Given the description of an element on the screen output the (x, y) to click on. 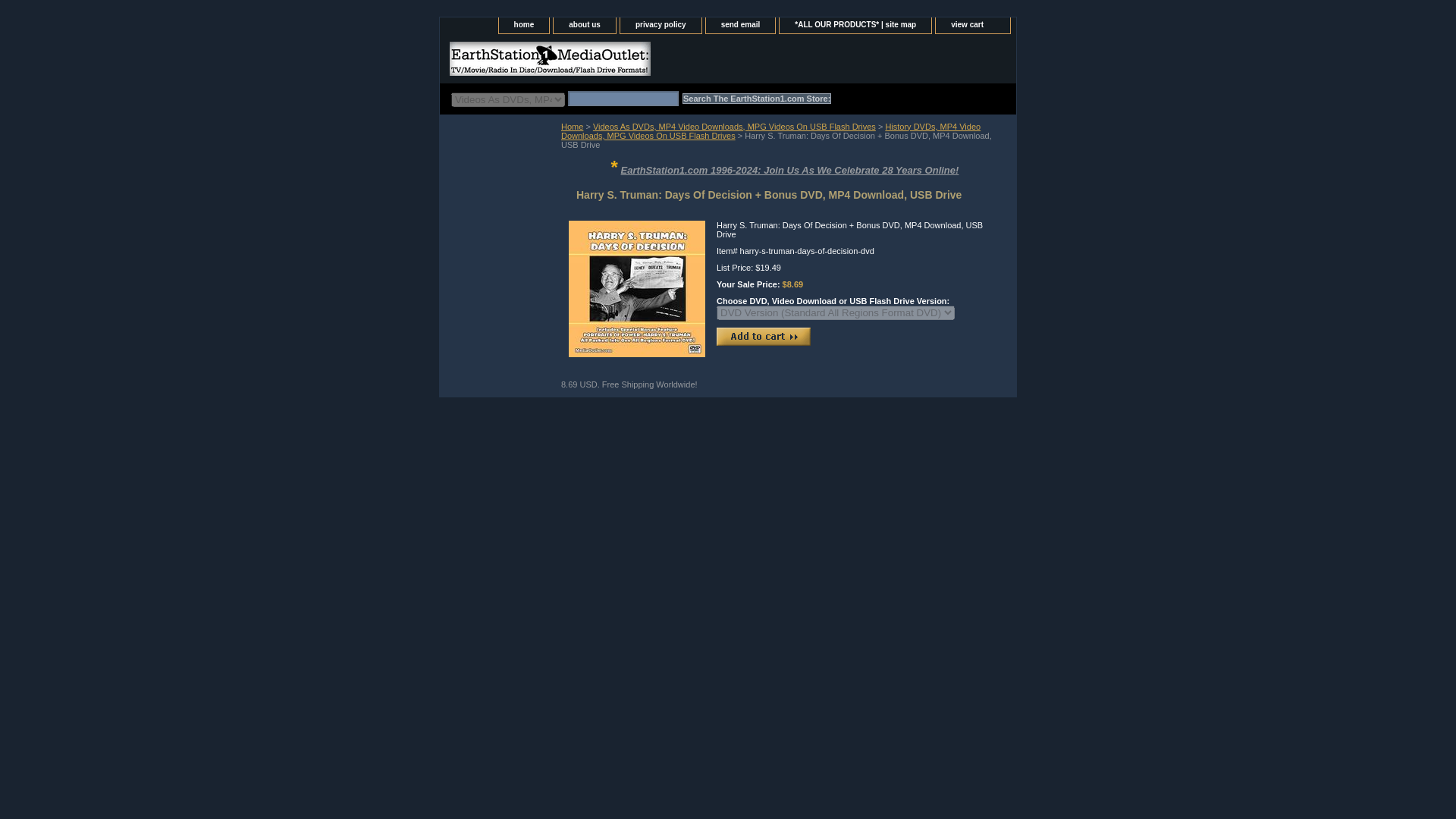
about us (584, 25)
Search The EarthStation1.com Store: (756, 98)
Add to cart (763, 336)
view cart (973, 25)
Home (571, 126)
home (524, 25)
Search The EarthStation1.com Store: (756, 98)
send email (741, 25)
privacy policy (660, 25)
